Given the description of an element on the screen output the (x, y) to click on. 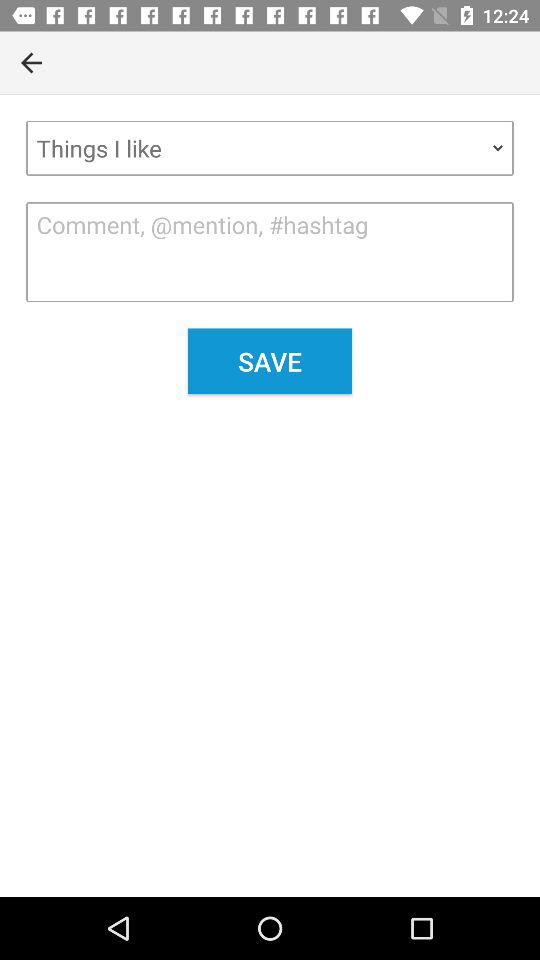
choose save at the center (269, 361)
